Given the description of an element on the screen output the (x, y) to click on. 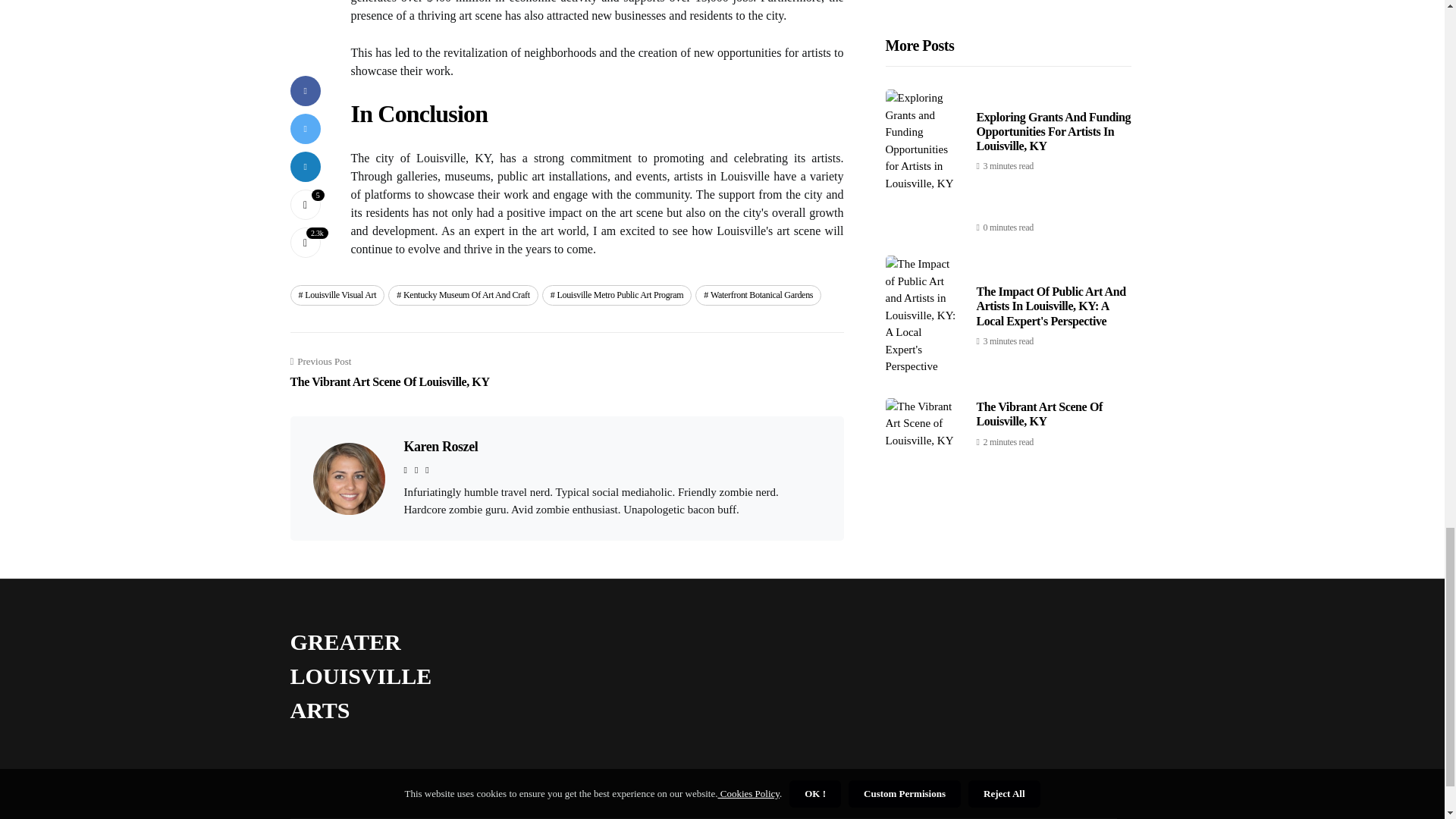
Waterfront Botanical Gardens (758, 294)
Louisville Metro Public Art Program (617, 294)
Kentucky Museum Of Art And Craft (389, 372)
Louisville Visual Art (462, 294)
Karen Roszel (336, 294)
